Given the description of an element on the screen output the (x, y) to click on. 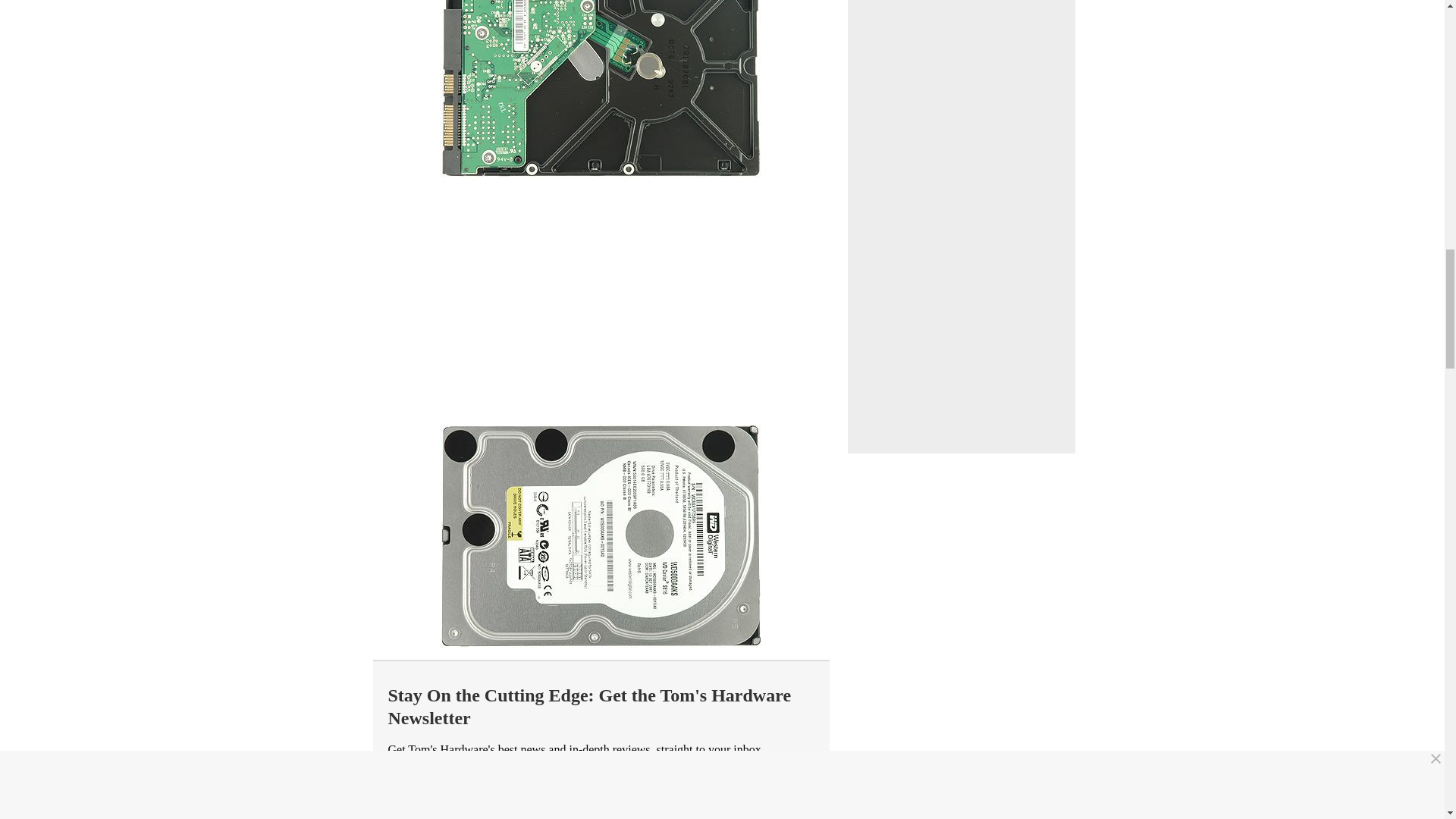
Sign me up (739, 787)
